Given the description of an element on the screen output the (x, y) to click on. 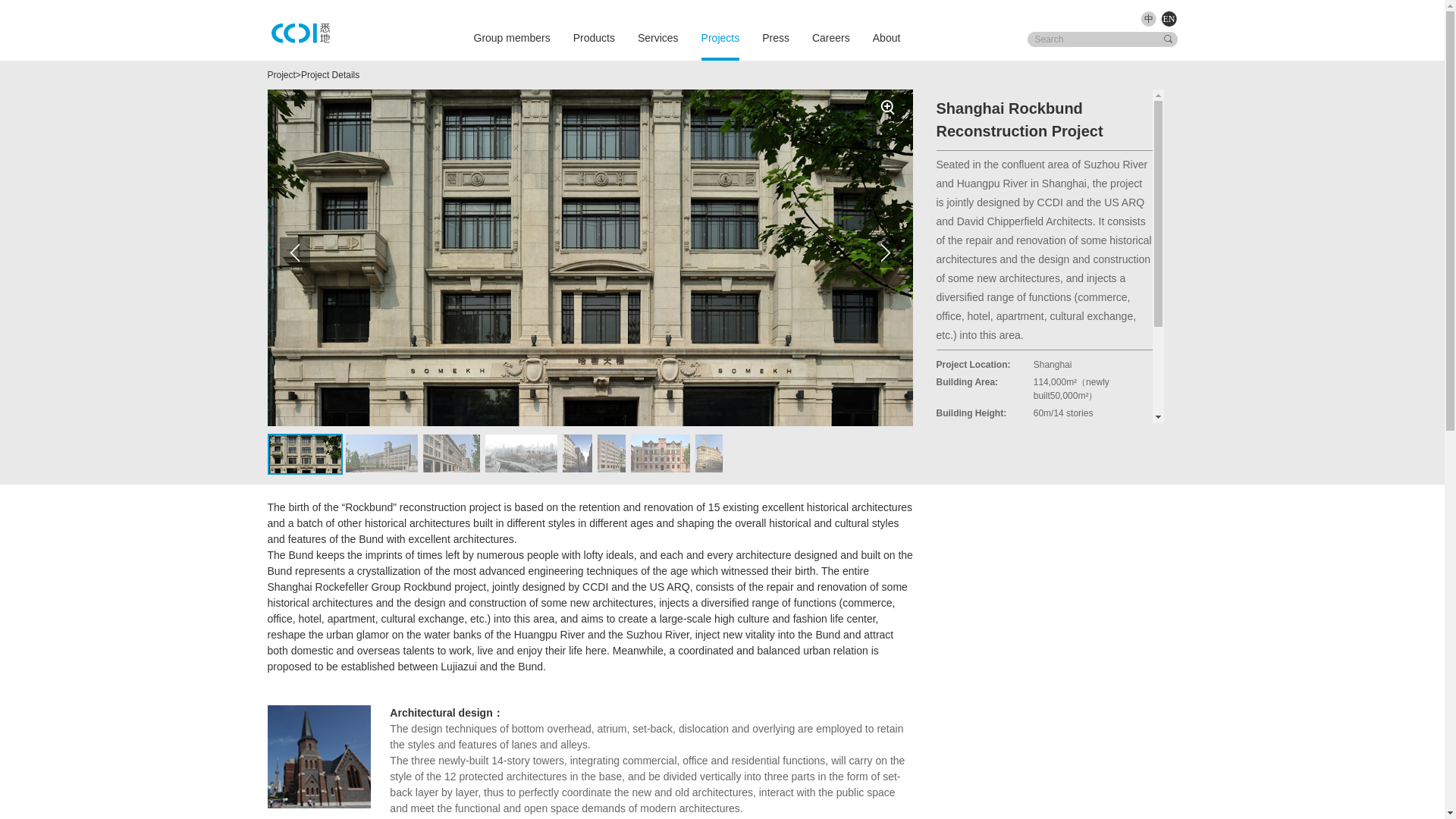
Group members (511, 37)
Careers (831, 37)
EN (1168, 19)
Projects (720, 39)
Services (657, 37)
Products (593, 37)
